Given the description of an element on the screen output the (x, y) to click on. 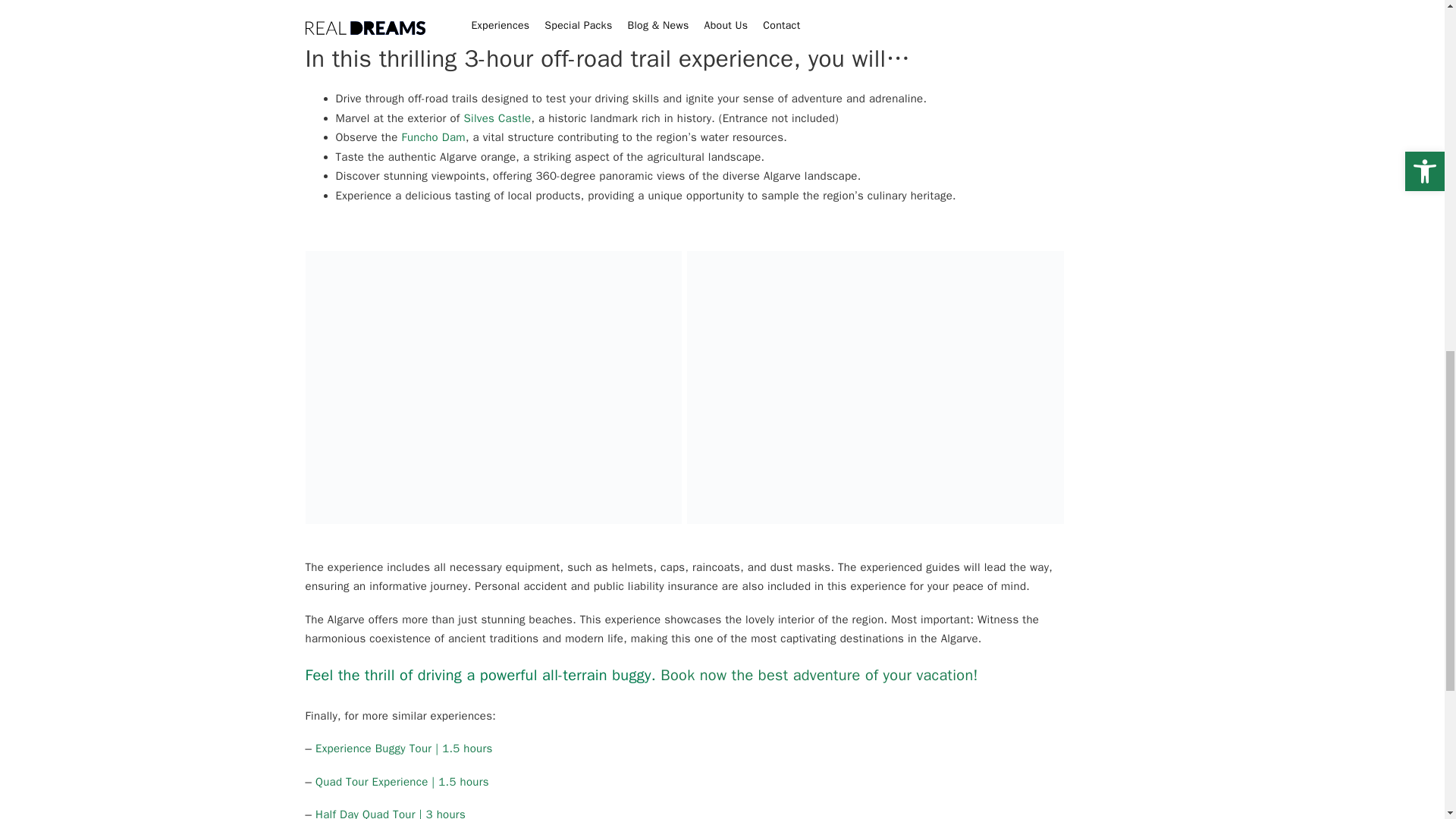
Silves Castle (497, 118)
Book now the best adventure of your vacation! (819, 674)
Funcho Dam (433, 137)
